Given the description of an element on the screen output the (x, y) to click on. 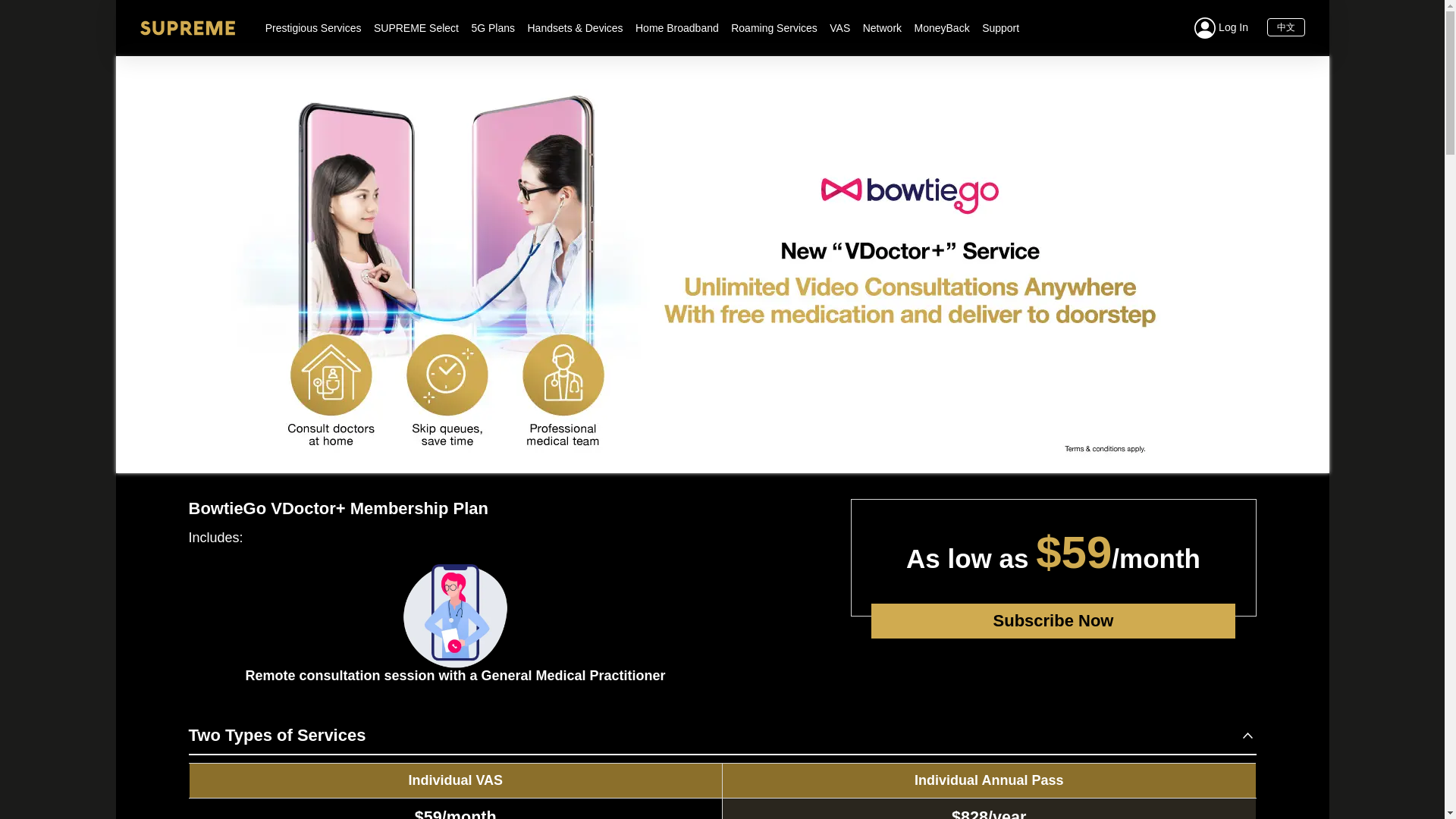
MoneyBack (941, 28)
SUPREME Select (416, 28)
Support (1000, 28)
Log In (1220, 26)
